Given the description of an element on the screen output the (x, y) to click on. 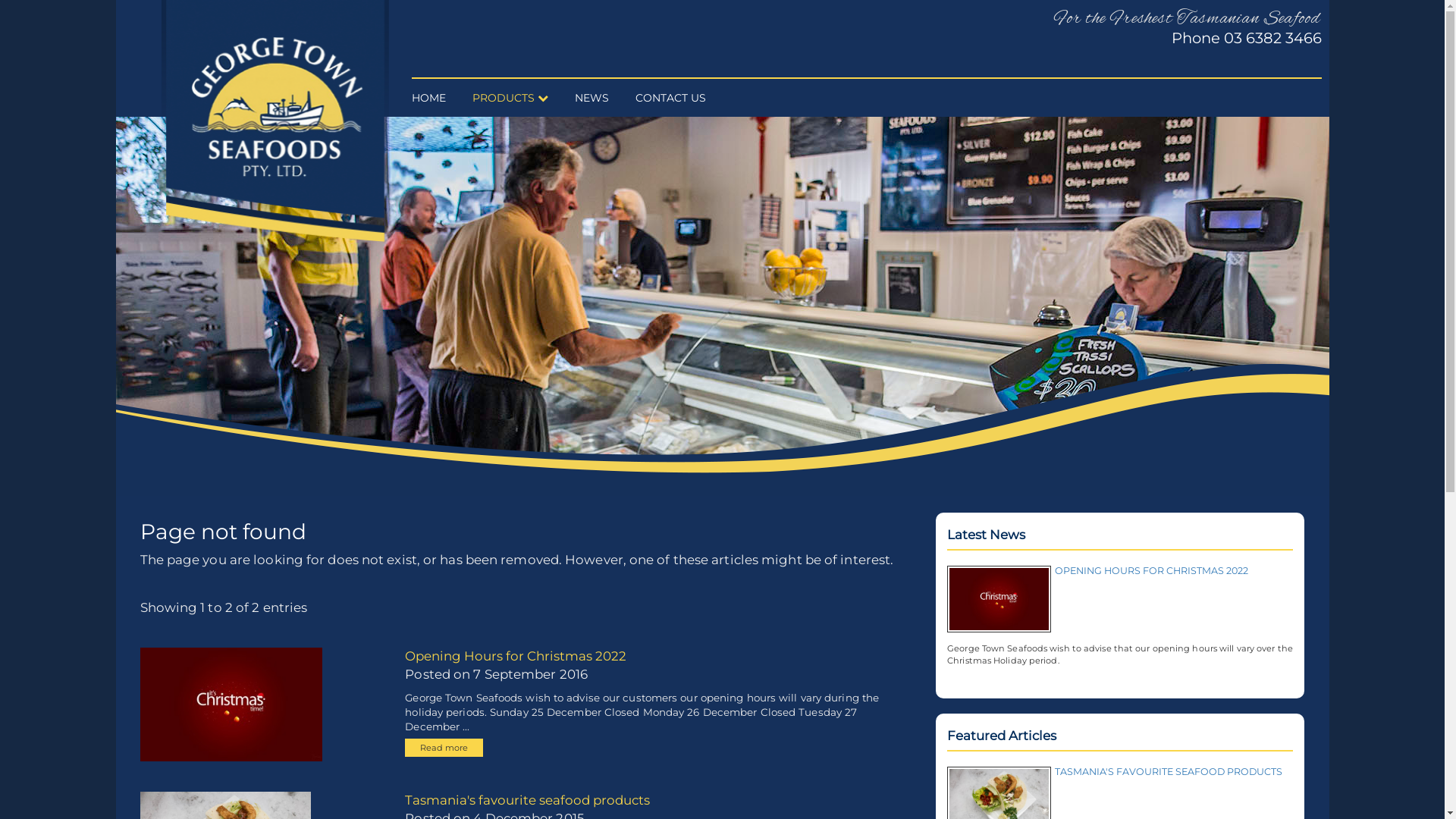
Read more Element type: text (443, 747)
Tasmania's favourite seafood products Element type: text (526, 799)
PRODUCTS Element type: text (514, 97)
NEWS Element type: text (597, 97)
Opening Hours for Christmas 2022 Element type: text (515, 655)
CONTACT US Element type: text (676, 97)
HOME Element type: text (433, 97)
Phone 03 6382 3466 Element type: text (1245, 37)
